Given the description of an element on the screen output the (x, y) to click on. 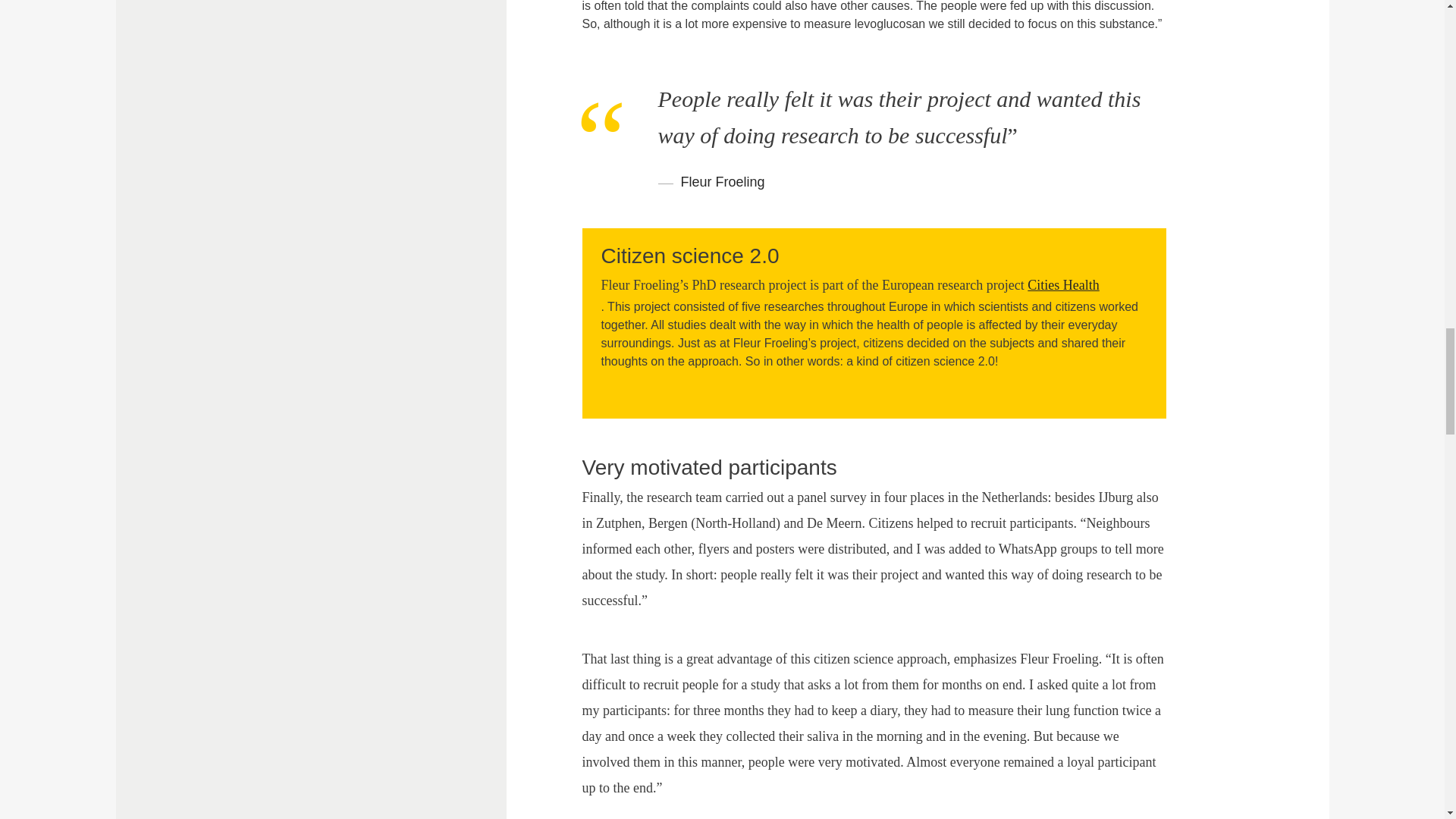
Cities Health (1072, 284)
Fleur Froeling (723, 181)
